Given the description of an element on the screen output the (x, y) to click on. 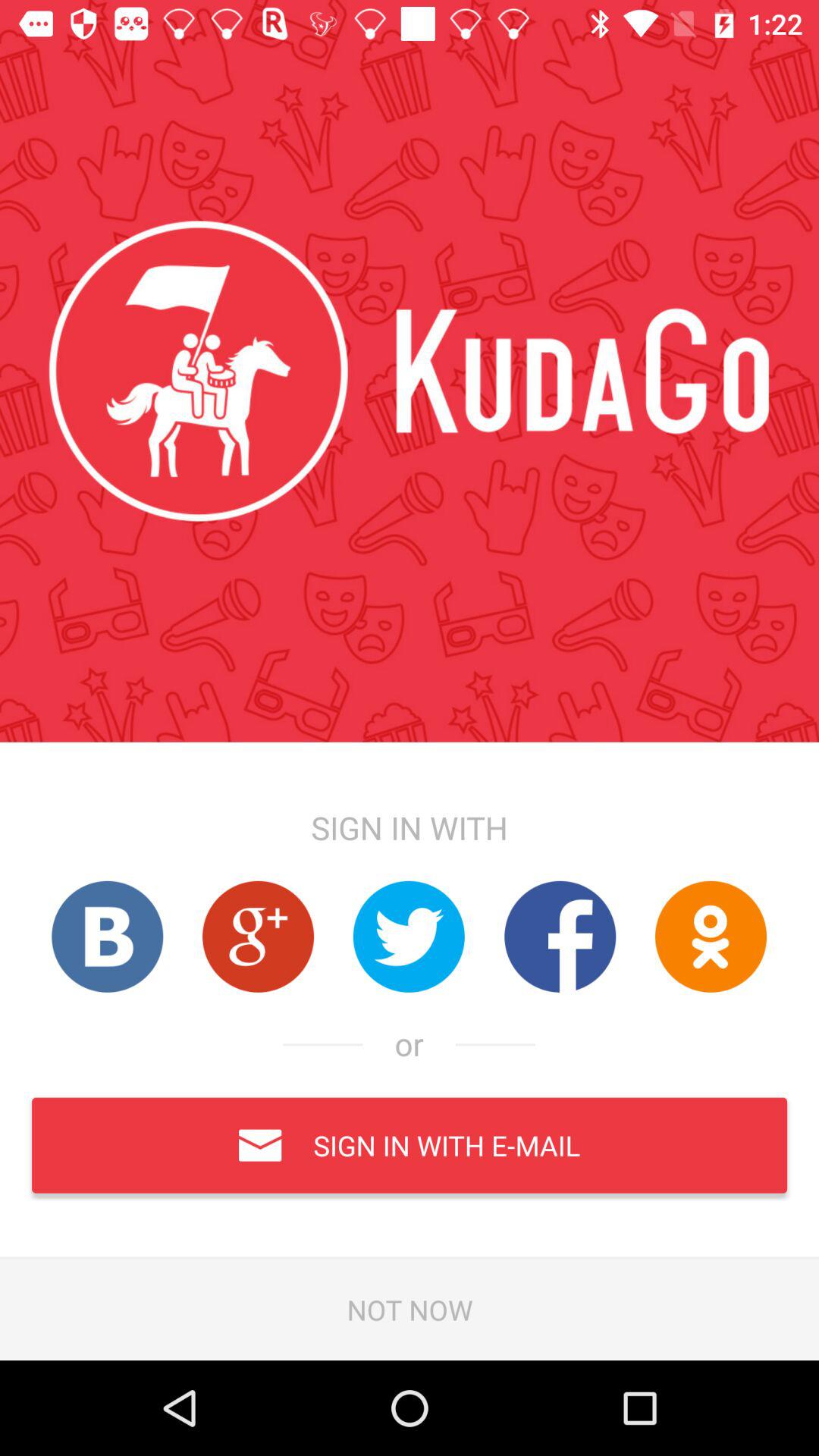
click to bing (106, 936)
